Given the description of an element on the screen output the (x, y) to click on. 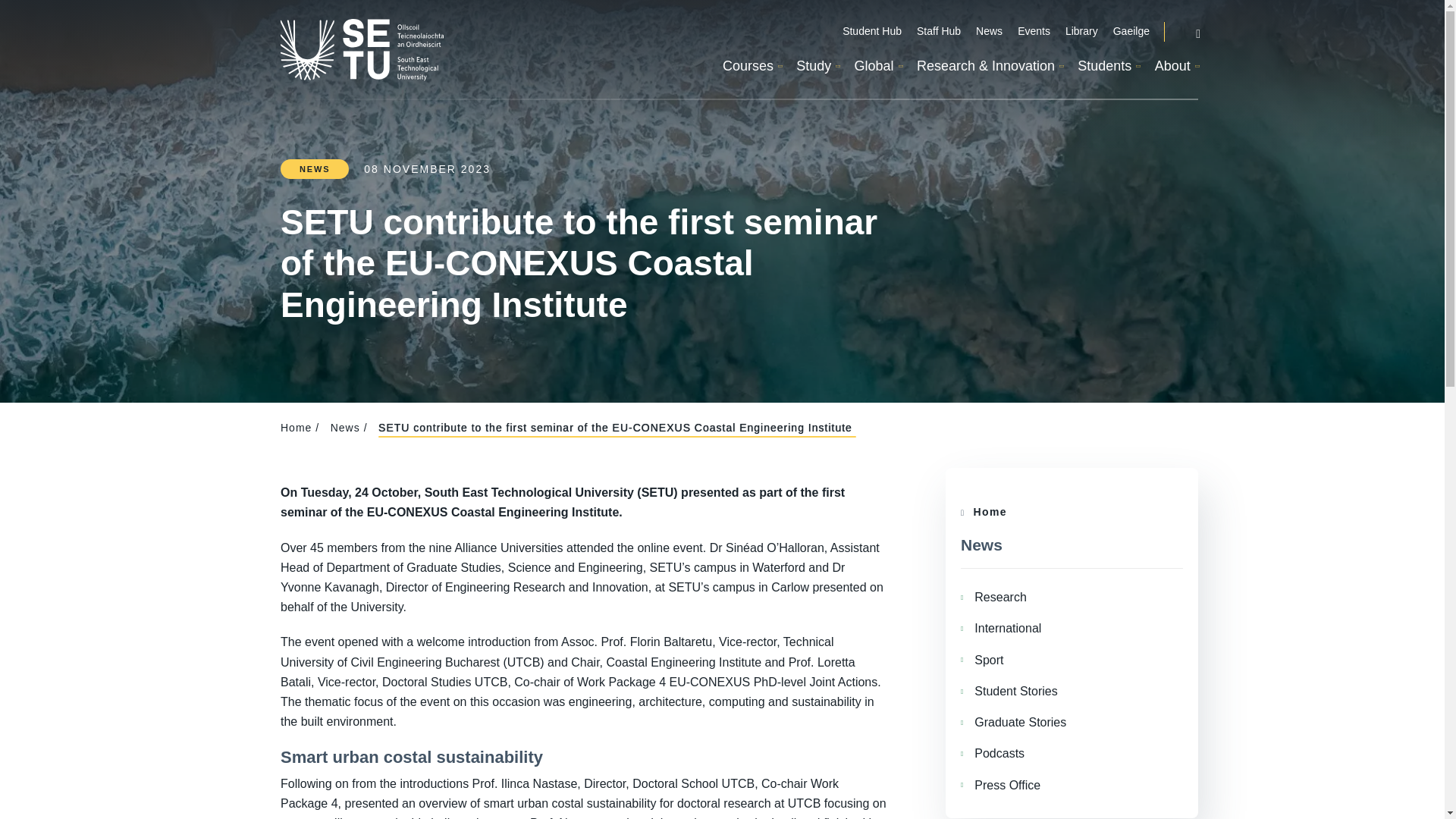
Library (1081, 31)
News (989, 31)
Gaeilge (1131, 31)
Student Hub (872, 31)
Events (1033, 31)
Staff Hub (938, 31)
Courses (751, 66)
